Given the description of an element on the screen output the (x, y) to click on. 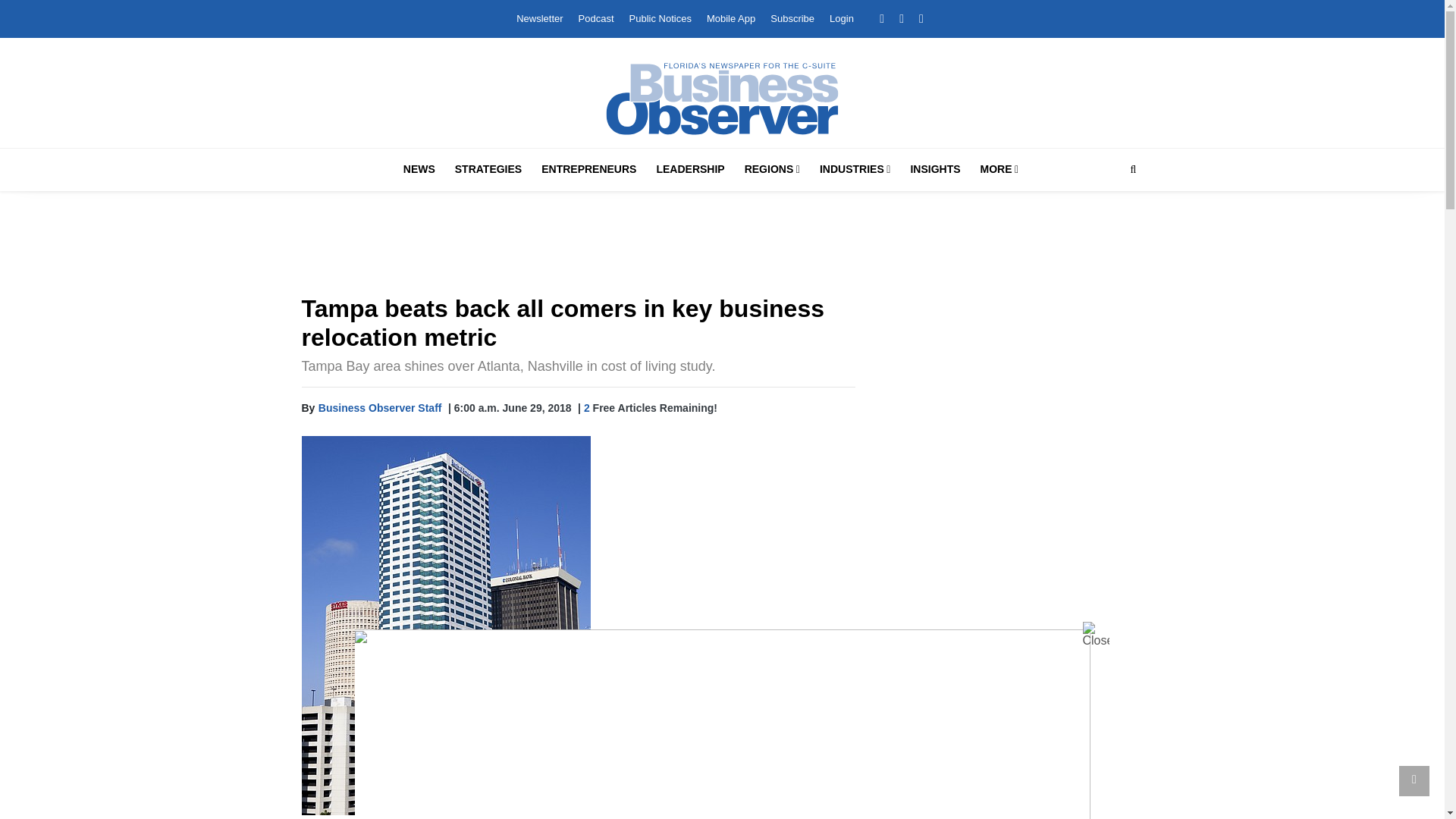
INDUSTRIES (855, 169)
3rd party ad content (1010, 612)
3rd party ad content (1010, 400)
ENTREPRENEURS (588, 169)
Newsletter (539, 18)
3rd party ad content (722, 246)
LEADERSHIP (689, 169)
STRATEGIES (487, 169)
3rd party ad content (1010, 774)
REGIONS (772, 169)
Login (841, 18)
NEWS (419, 169)
Mobile App (730, 18)
MORE (999, 169)
Public Notices (659, 18)
